Given the description of an element on the screen output the (x, y) to click on. 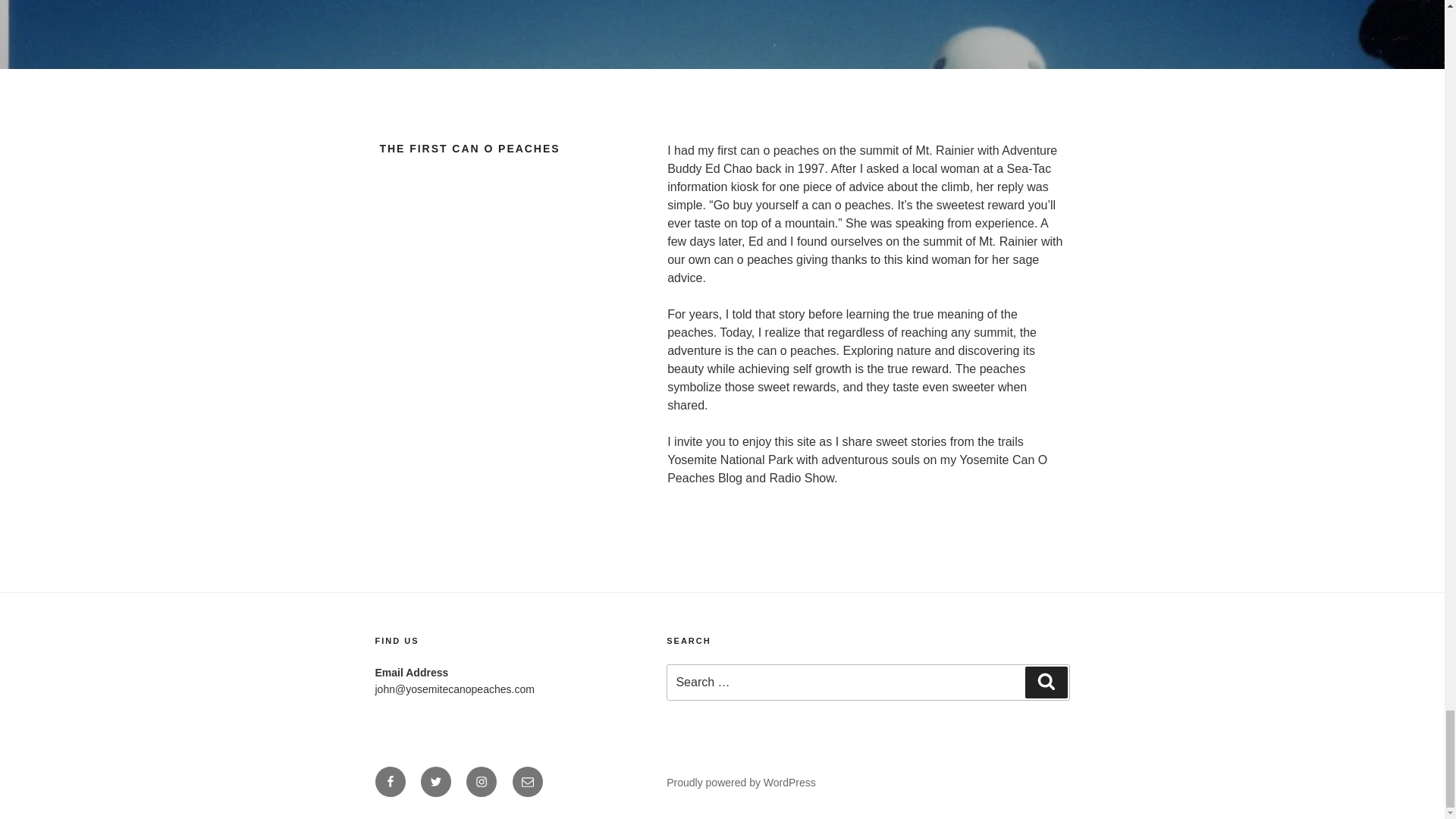
Facebook (389, 781)
Search (1046, 682)
Twitter (435, 781)
Instagram (480, 781)
Email (527, 781)
Proudly powered by WordPress (740, 782)
